Given the description of an element on the screen output the (x, y) to click on. 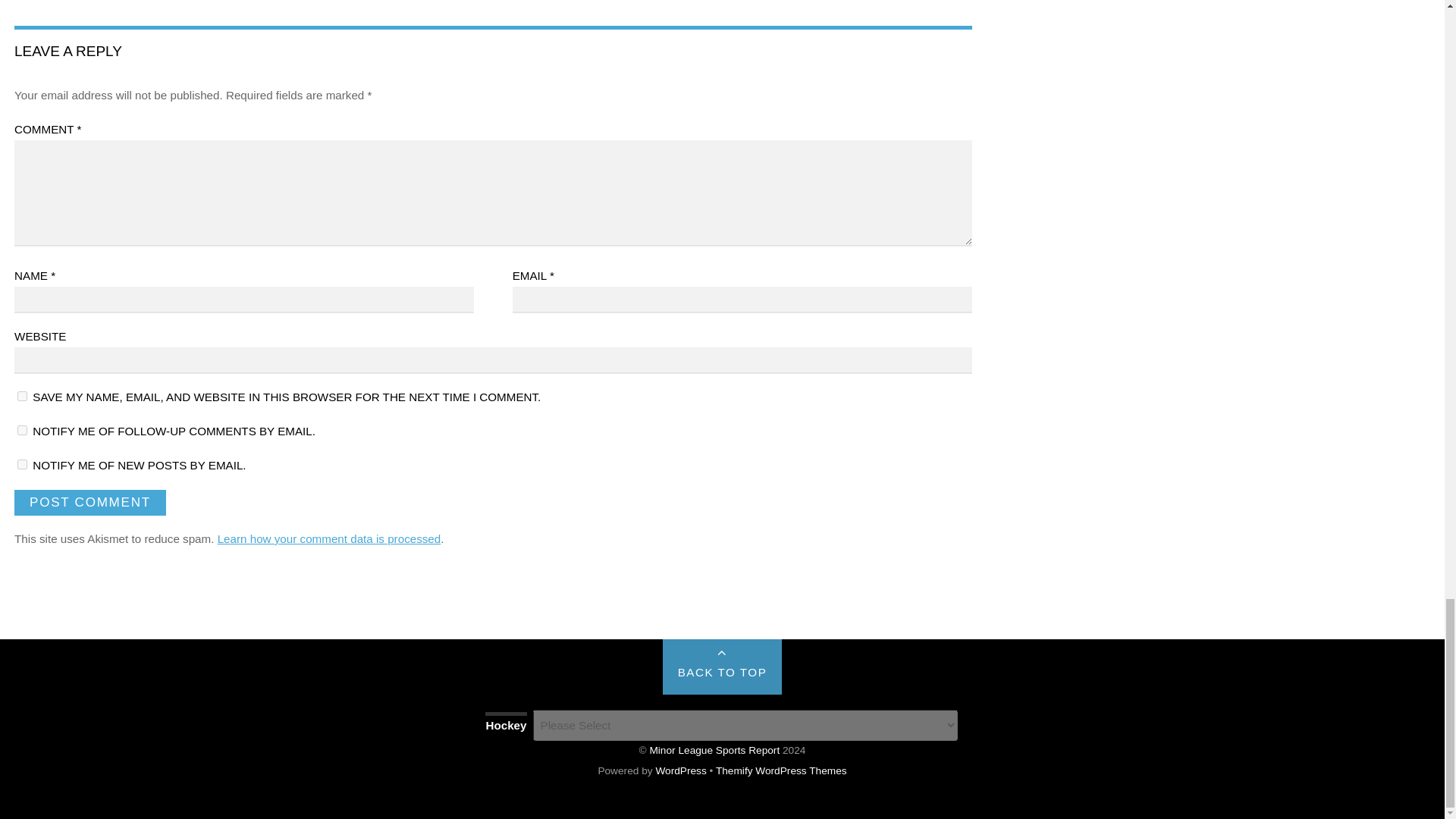
subscribe (22, 429)
Learn how your comment data is processed (328, 538)
subscribe (22, 464)
yes (22, 396)
Post Comment (89, 502)
Post Comment (89, 502)
